Given the description of an element on the screen output the (x, y) to click on. 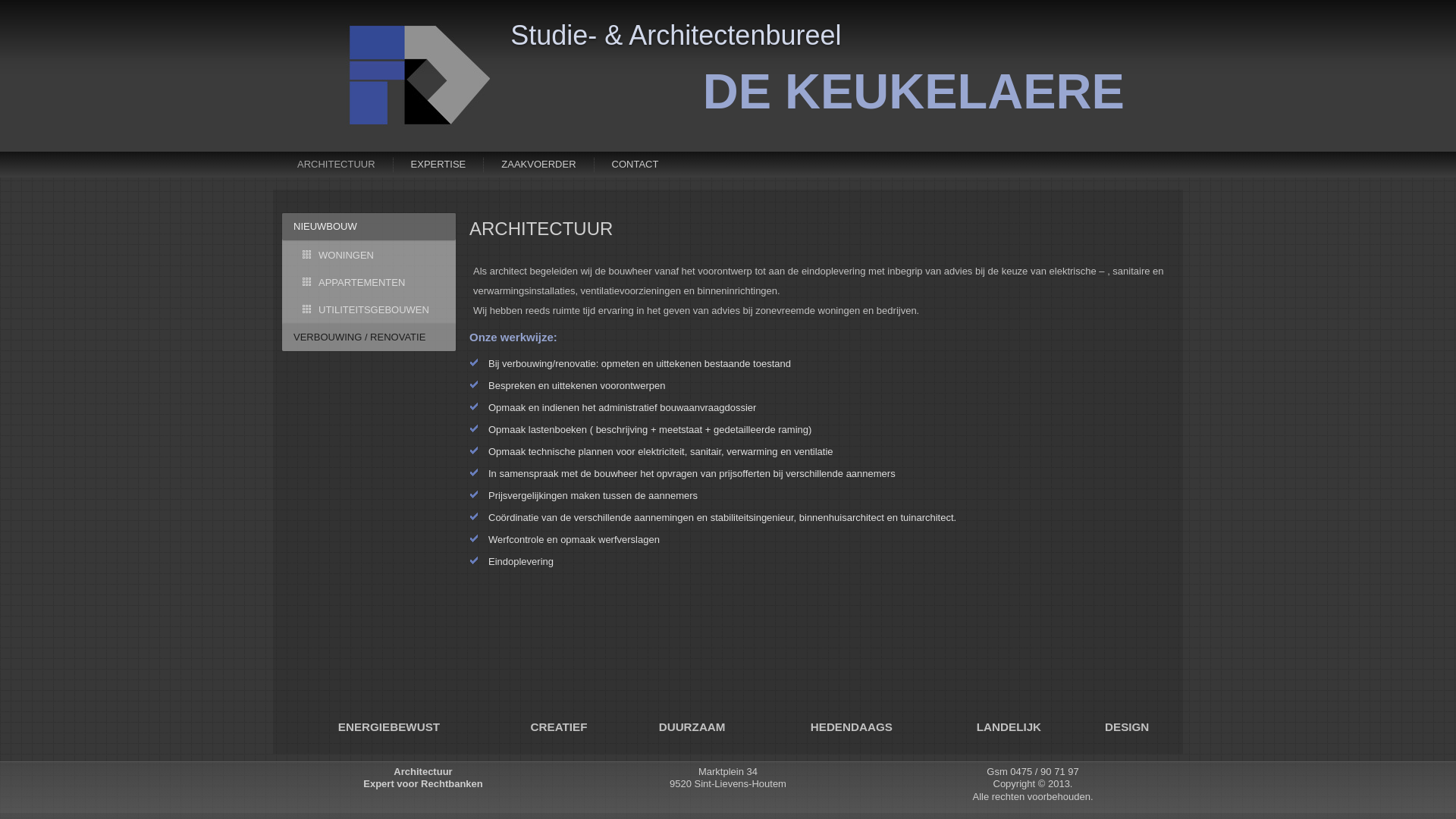
APPARTEMENTEN Element type: text (368, 282)
ARCHITECTUUR Element type: text (336, 164)
NIEUWBOUW Element type: text (368, 226)
WONINGEN Element type: text (368, 255)
Studie- & Architectenbureel Element type: text (675, 34)
CONTACT Element type: text (635, 164)
ZAAKVOERDER Element type: text (538, 164)
UTILITEITSGEBOUWEN Element type: text (368, 310)
EXPERTISE Element type: text (438, 164)
VERBOUWING / RENOVATIE Element type: text (368, 337)
